Given the description of an element on the screen output the (x, y) to click on. 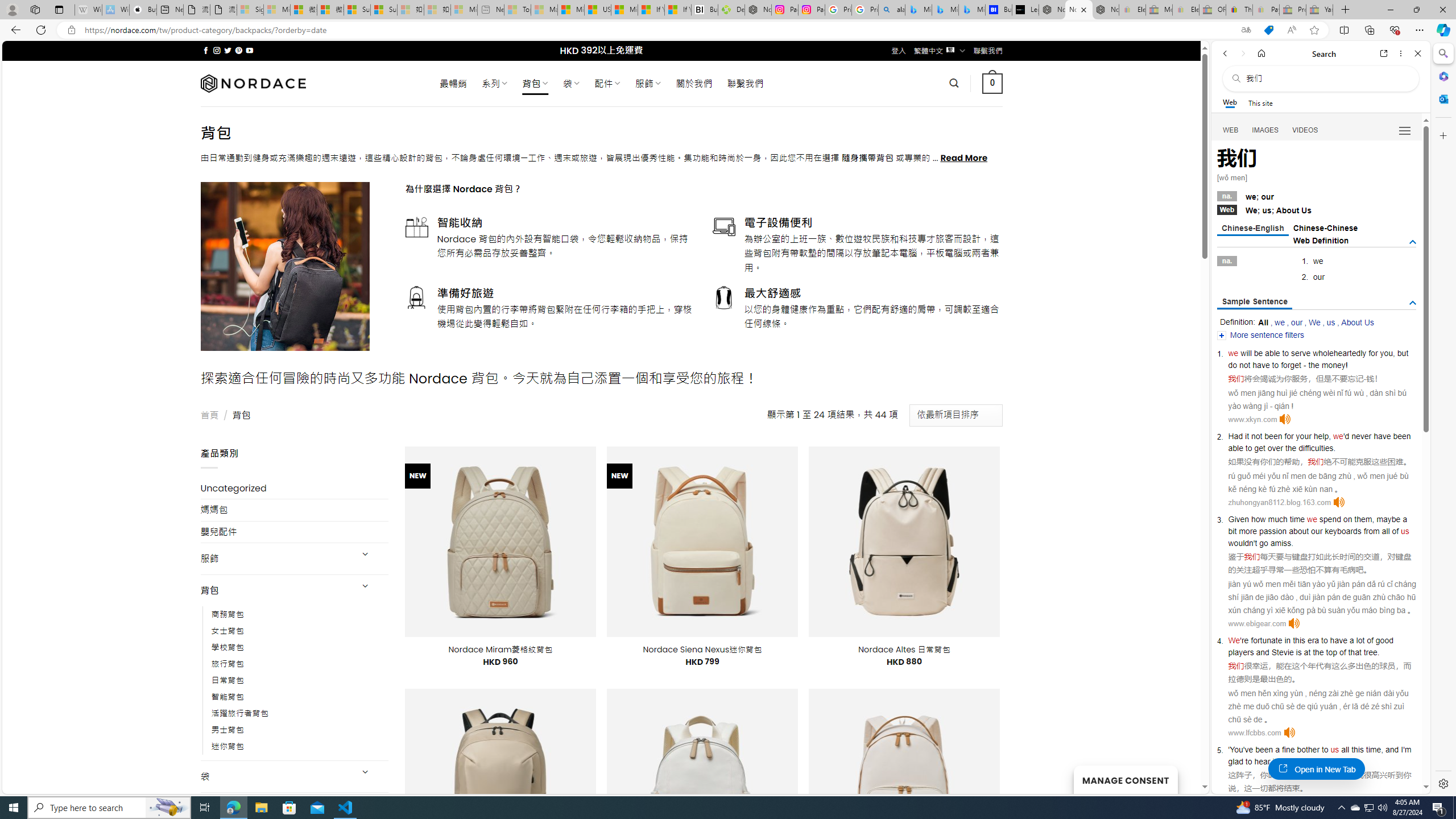
AutomationID: tgdef_sen (1412, 302)
Microsoft account | Account Checkup - Sleeping (463, 9)
us (1334, 749)
  0   (992, 83)
bother (1308, 749)
You (1236, 749)
